Given the description of an element on the screen output the (x, y) to click on. 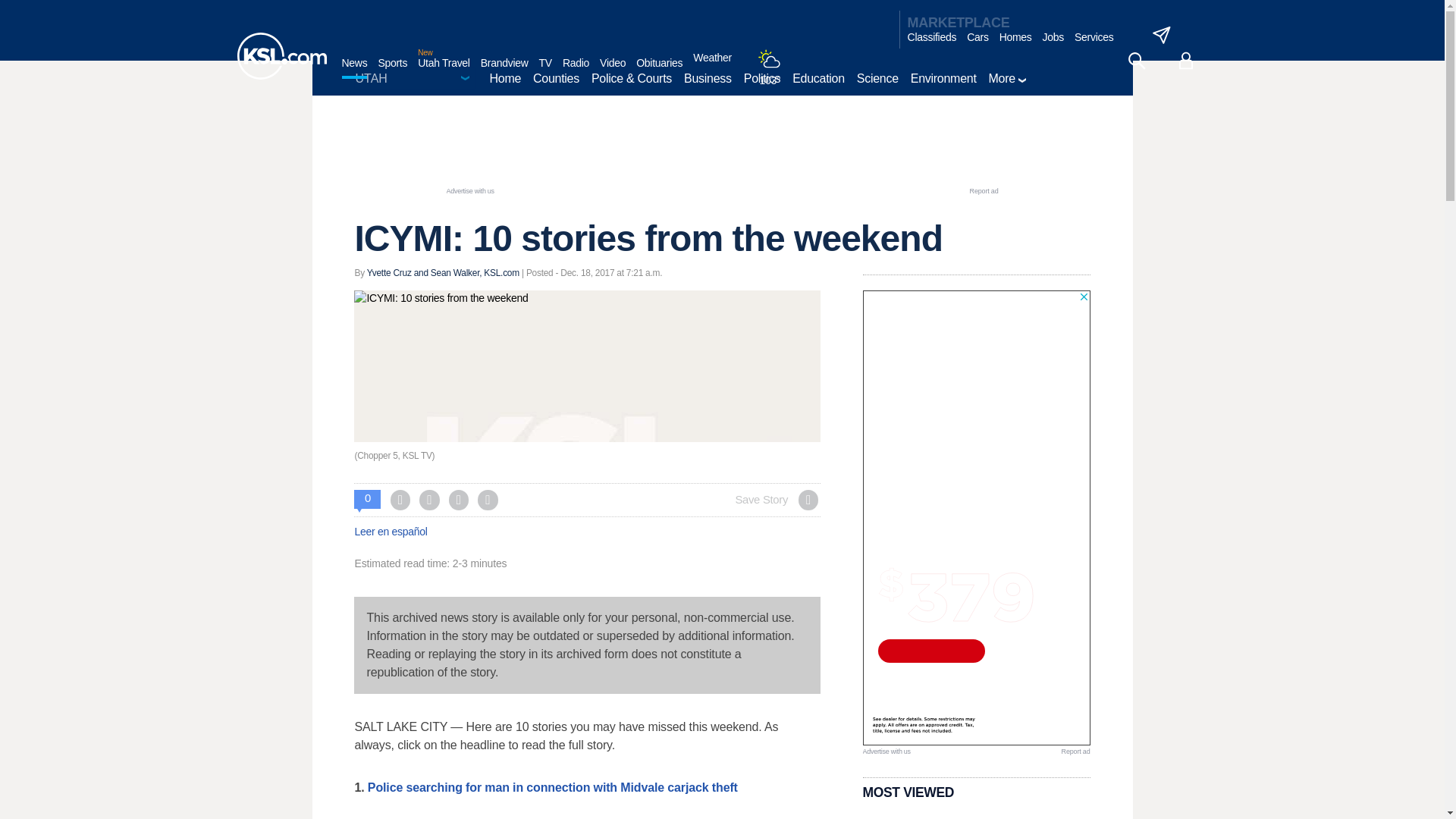
search (1135, 60)
account - logged out (1185, 60)
KSL homepage (280, 55)
3rd party ad content (721, 151)
